Given the description of an element on the screen output the (x, y) to click on. 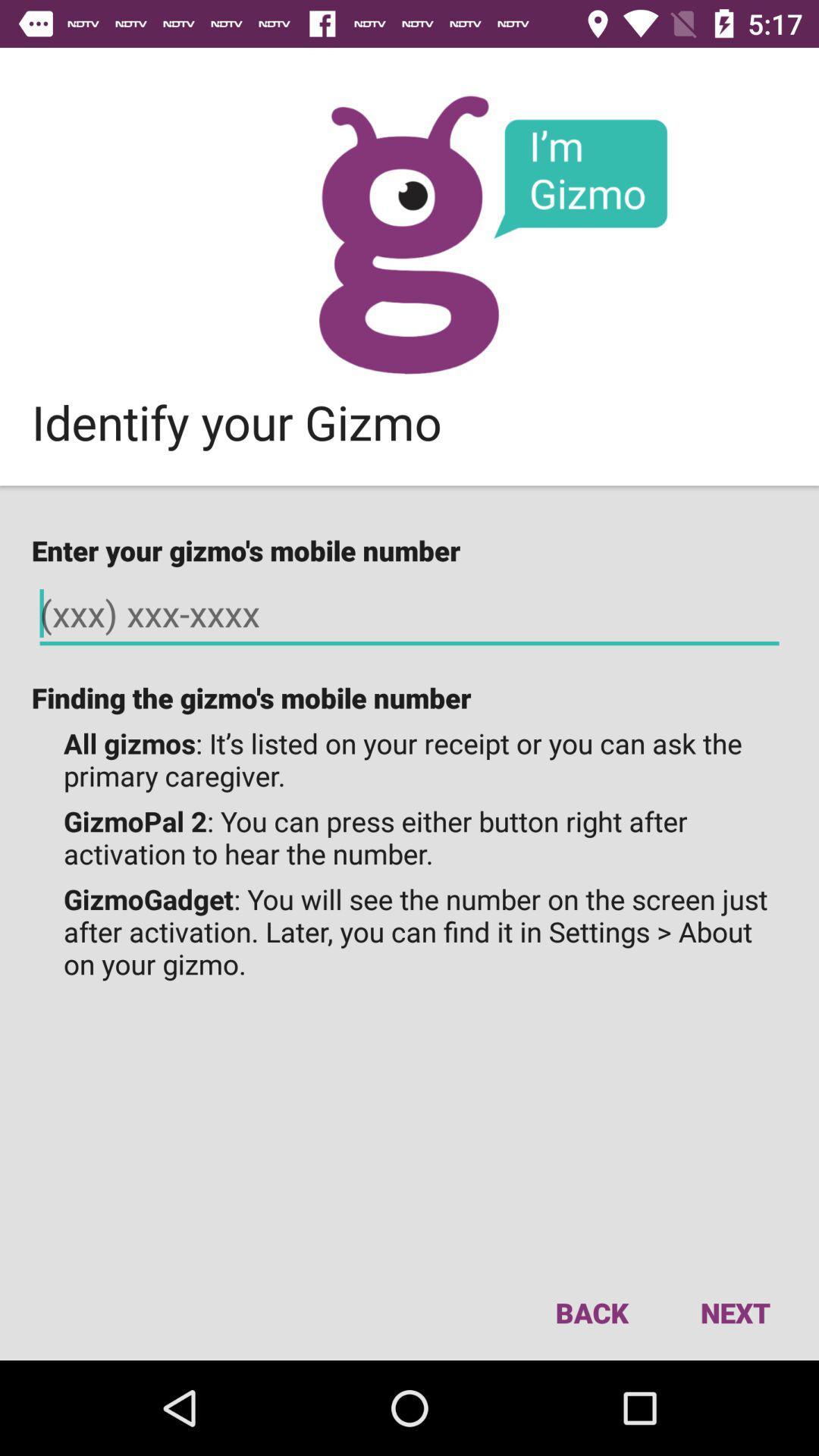
enter your gizmo 's mobile number (409, 614)
